Given the description of an element on the screen output the (x, y) to click on. 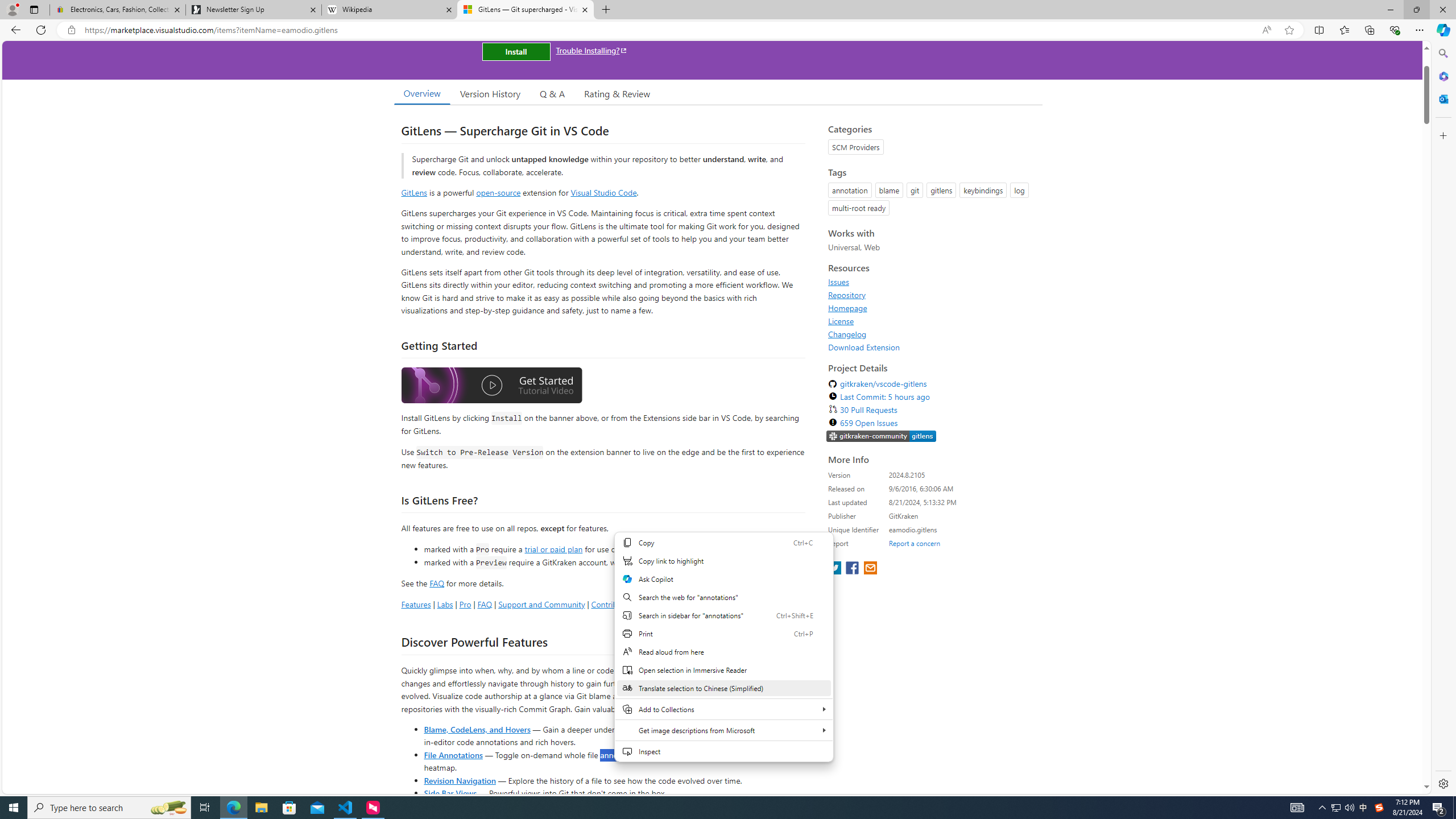
Issues (838, 281)
plan (730, 562)
Blame, CodeLens, and Hovers (476, 728)
File Annotations (453, 754)
Copy (723, 542)
Address and search bar (669, 29)
https://slack.gitkraken.com// (881, 436)
Favorites (1344, 29)
GitLens (414, 192)
Pro (464, 603)
Tab actions menu (33, 9)
Ask Copilot (723, 579)
Read aloud this page (Ctrl+Shift+U) (1266, 29)
share extension on email (869, 568)
